Given the description of an element on the screen output the (x, y) to click on. 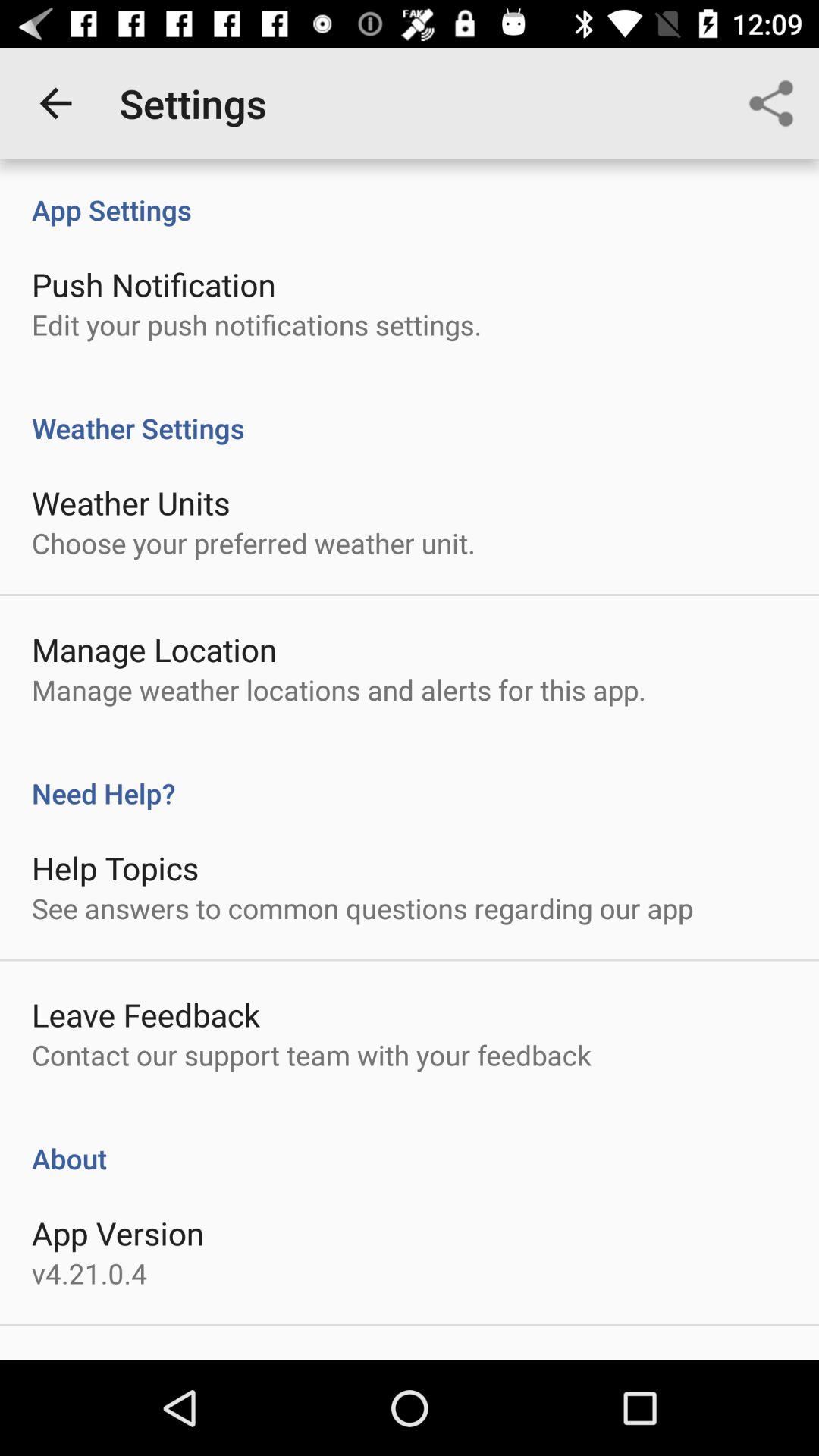
turn on item below manage weather locations item (409, 777)
